Given the description of an element on the screen output the (x, y) to click on. 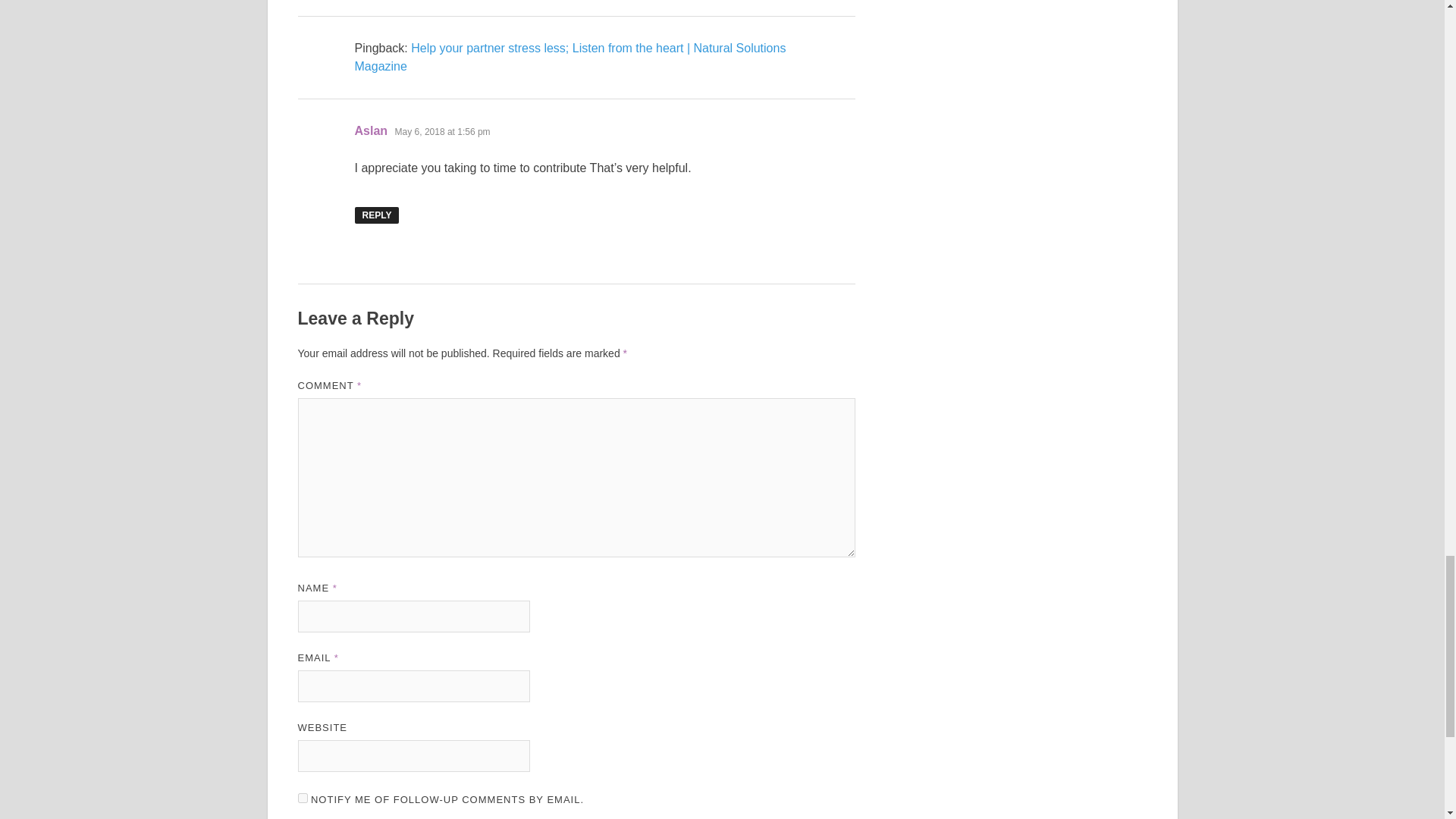
subscribe (302, 798)
